Given the description of an element on the screen output the (x, y) to click on. 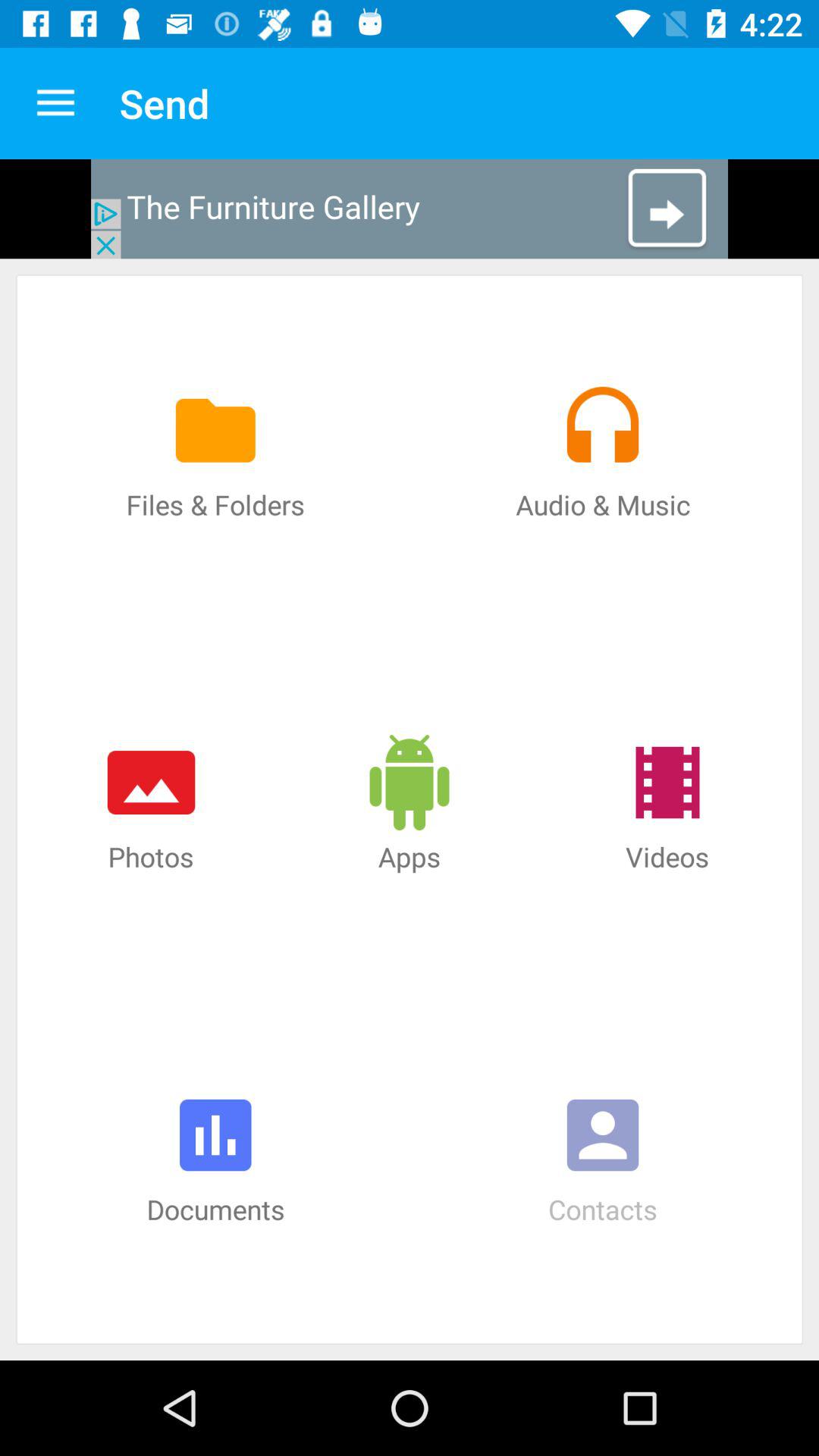
see advertisement (409, 208)
